Given the description of an element on the screen output the (x, y) to click on. 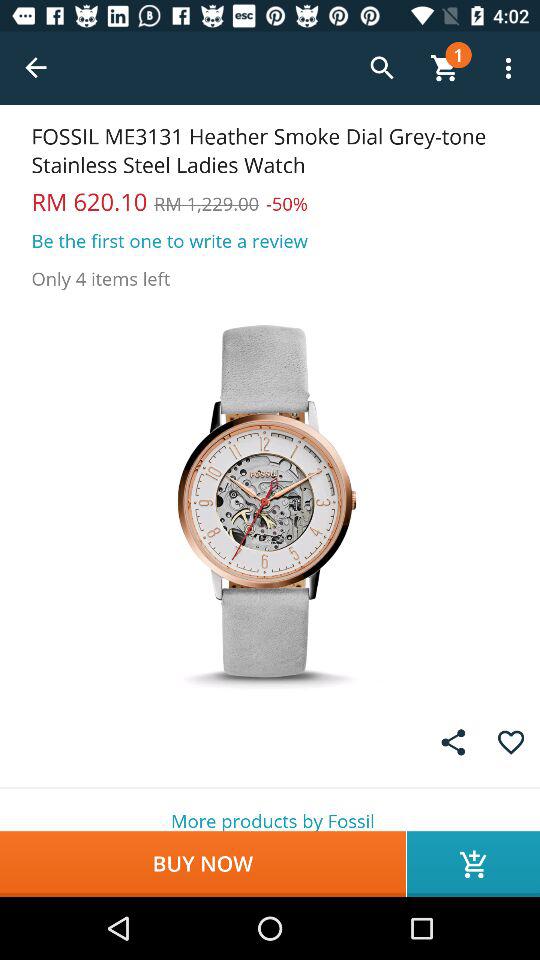
picture of watch searched (269, 500)
